Given the description of an element on the screen output the (x, y) to click on. 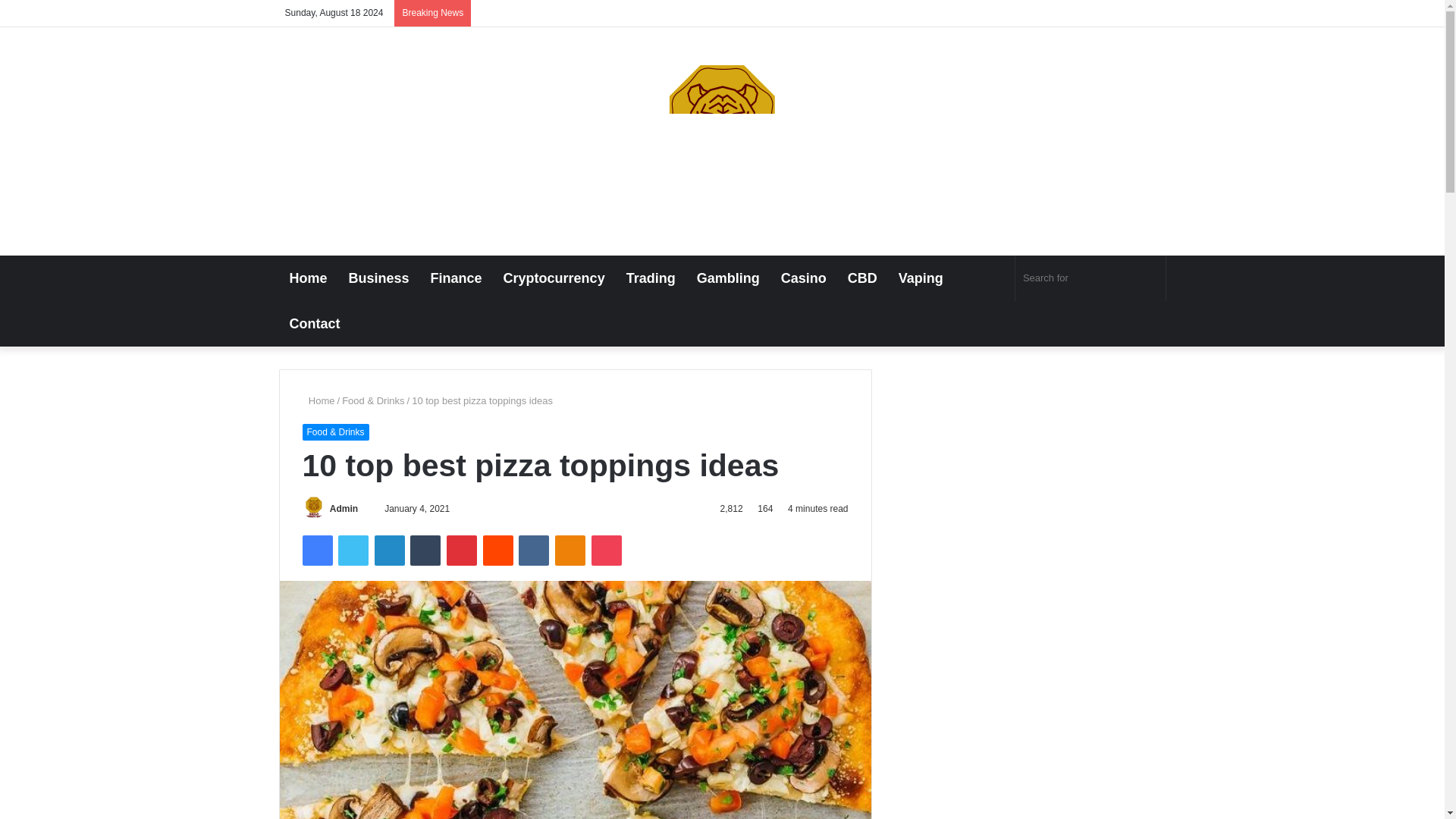
Vaping (920, 278)
Cryptocurrency (554, 278)
Twitter (352, 550)
Tumblr (425, 550)
Twitter (352, 550)
Facebook (316, 550)
Search for (1090, 278)
Daily Money Out (721, 133)
Pinterest (461, 550)
Admin (344, 508)
